Given the description of an element on the screen output the (x, y) to click on. 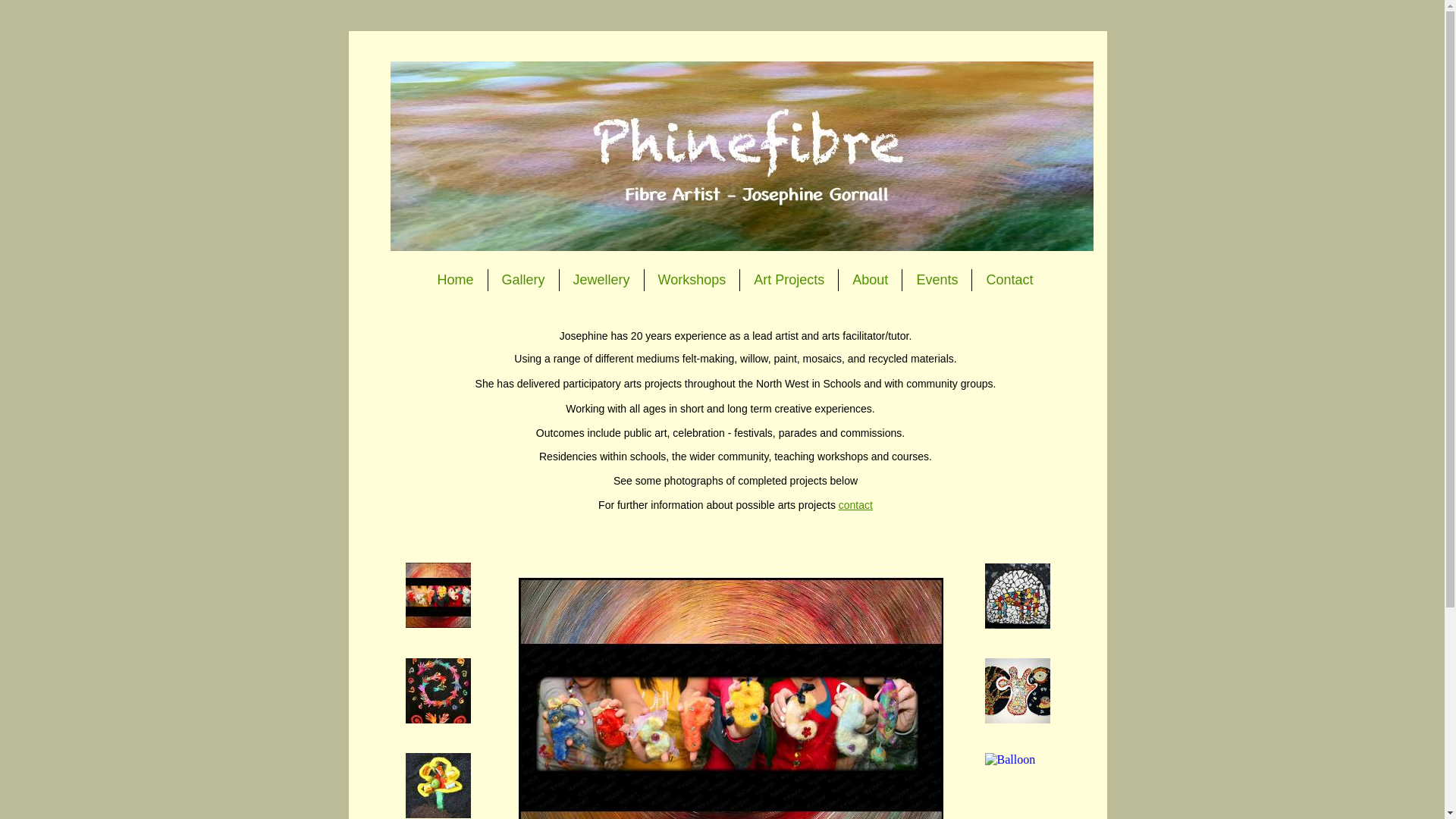
Art Projects (788, 280)
Home (455, 280)
Events (936, 280)
Jewellery (601, 280)
Workshops (692, 280)
Gallery (523, 280)
About (869, 280)
Contact (1009, 280)
contact (855, 504)
